Given the description of an element on the screen output the (x, y) to click on. 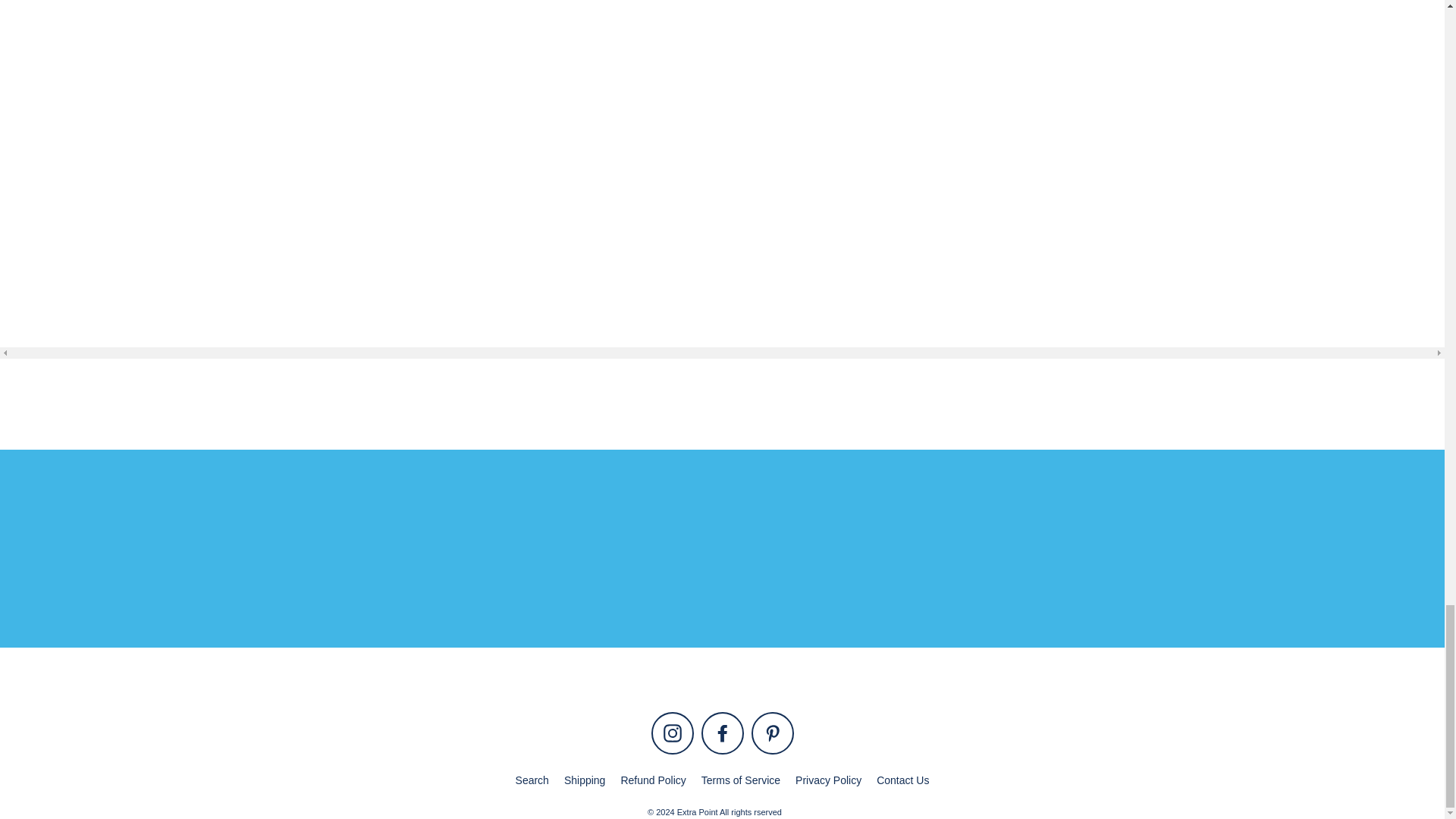
Extra Point on Instagram (671, 732)
Extra Point on Pinterest (772, 732)
Extra Point on Facebook (721, 732)
